Given the description of an element on the screen output the (x, y) to click on. 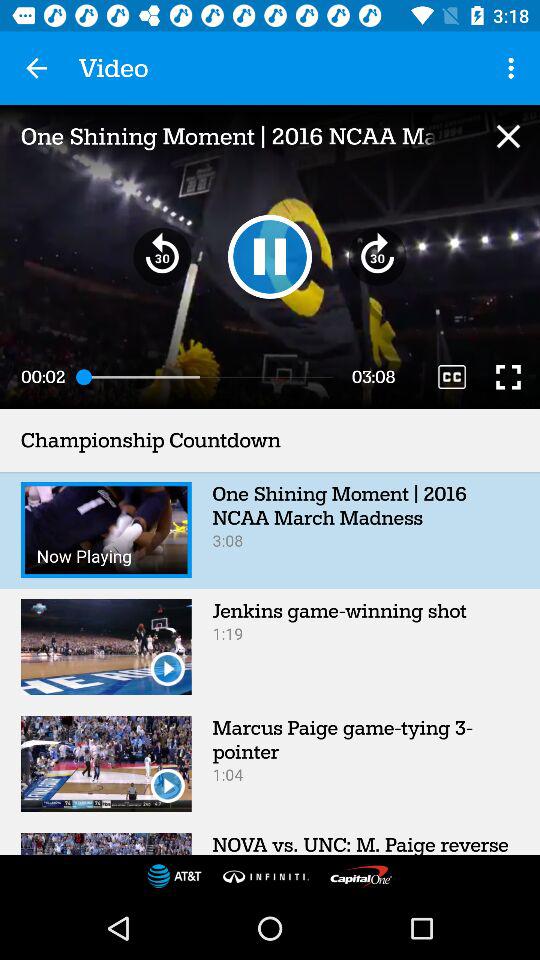
click item to the right of the 03:08 item (451, 376)
